Given the description of an element on the screen output the (x, y) to click on. 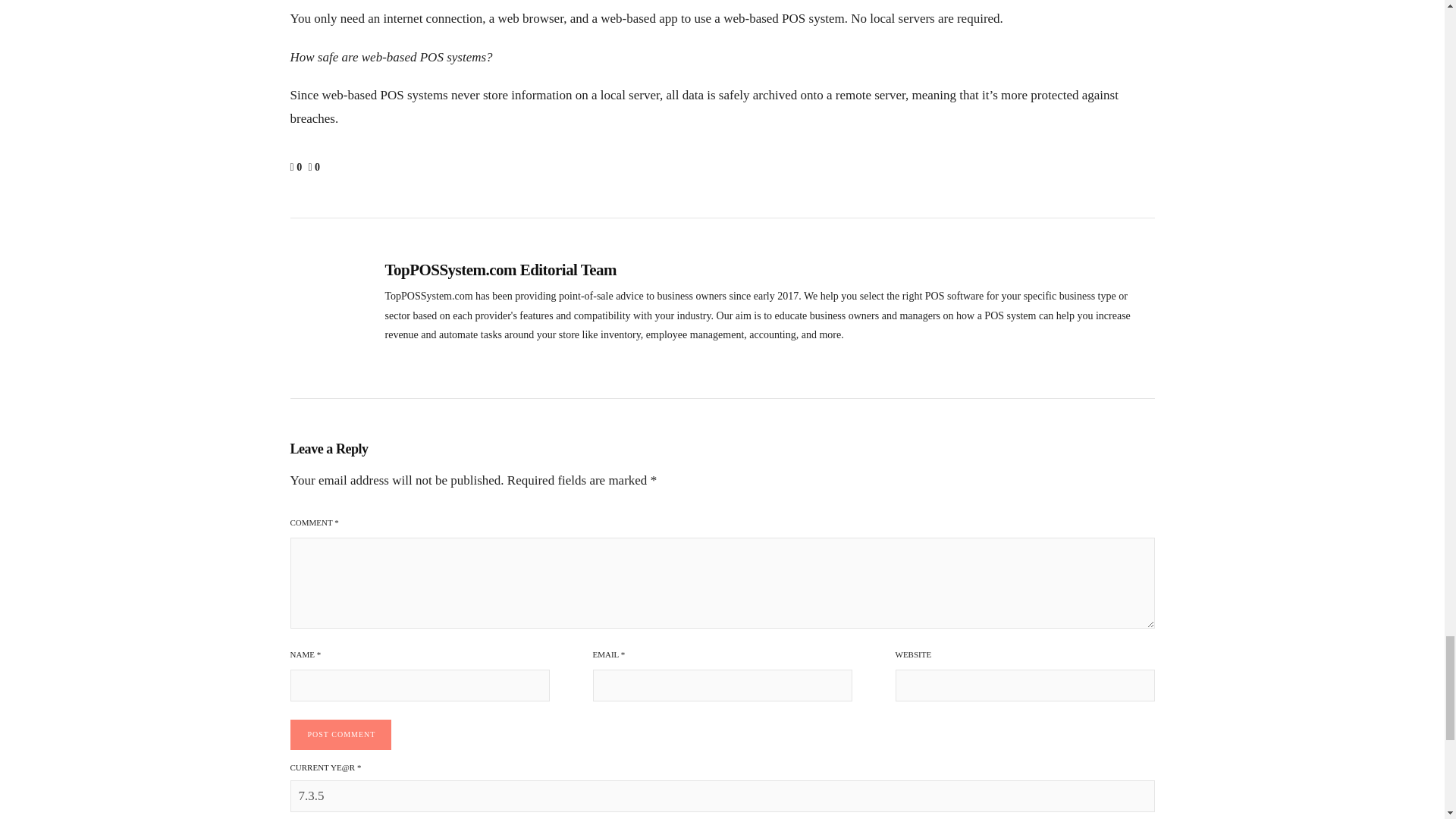
Posts by TopPOSSystem.com Editorial Team (501, 270)
Like (296, 167)
7.3.5 (721, 796)
Post Comment (340, 734)
